Given the description of an element on the screen output the (x, y) to click on. 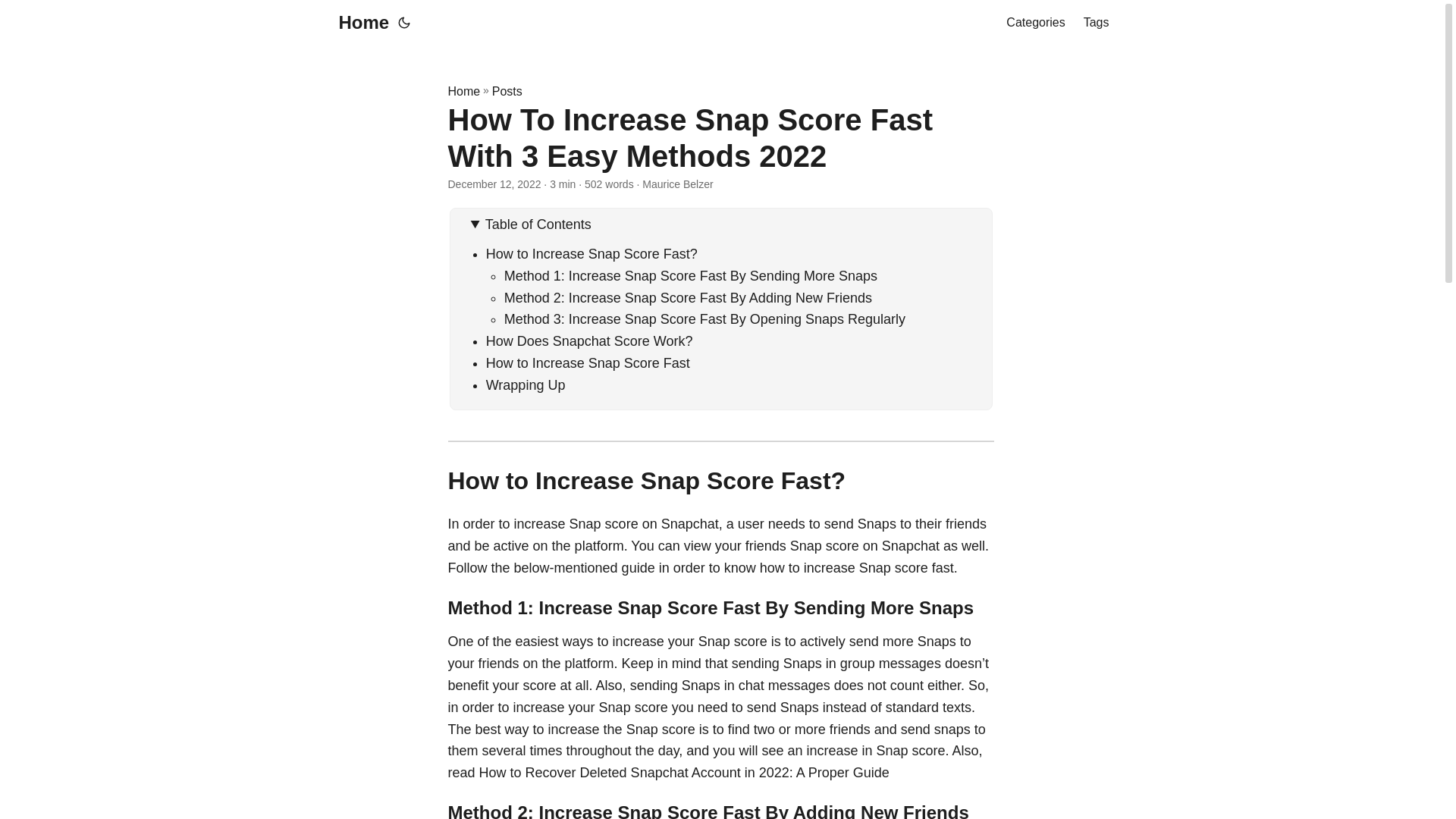
Categories (1035, 22)
Home (359, 22)
Home (463, 91)
Wrapping Up (526, 385)
Method 2: Increase Snap Score Fast By Adding New Friends  (689, 297)
Method 1: Increase Snap Score Fast By Sending More Snaps (690, 275)
How to Increase Snap Score Fast? (591, 253)
How Does Snapchat Score Work? (589, 340)
How to Increase Snap Score Fast (588, 363)
